Given the description of an element on the screen output the (x, y) to click on. 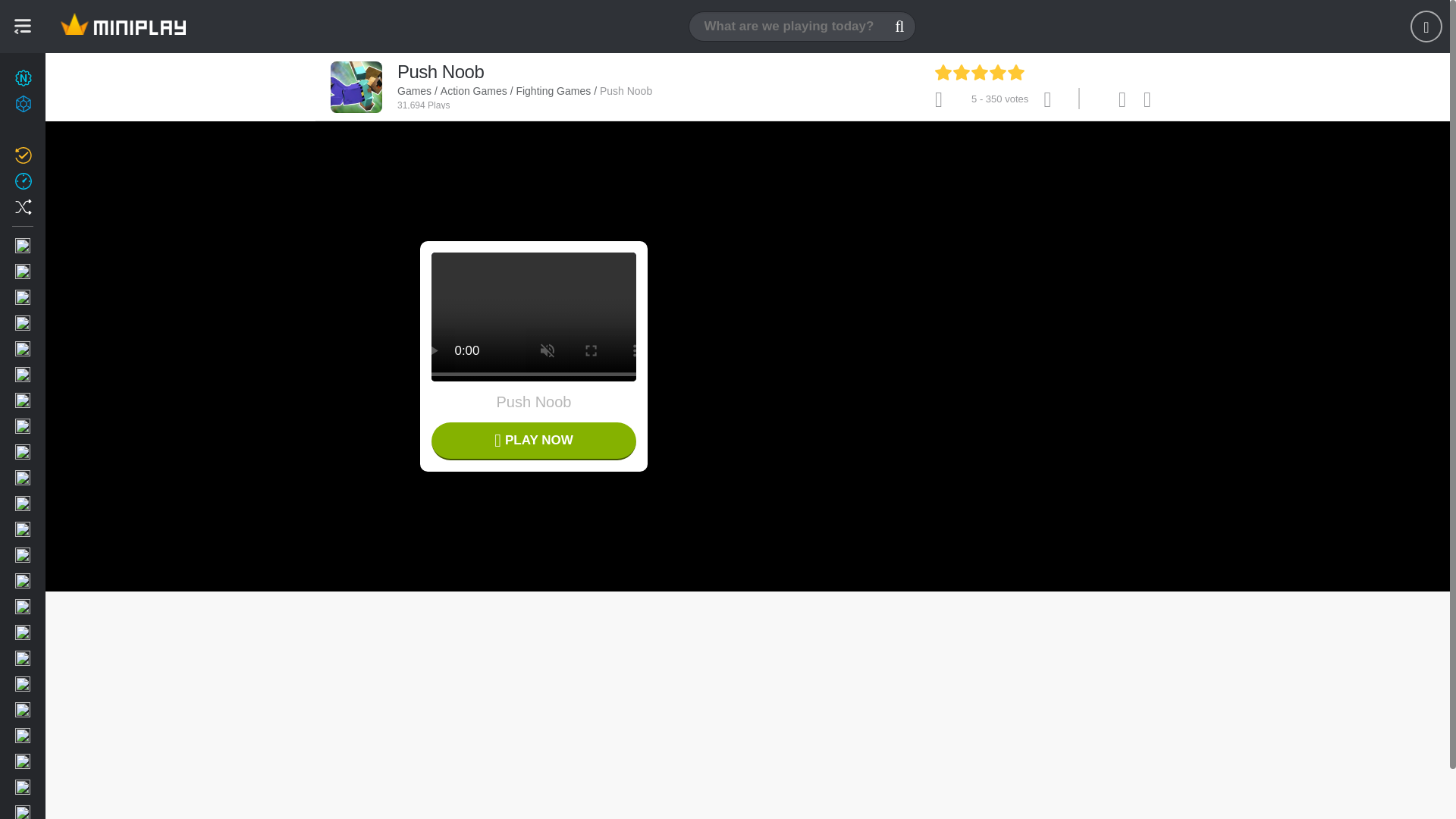
Adventure Games (75, 322)
Recent (75, 181)
Card Games (75, 503)
Mario Bros Games (75, 400)
Action Games (75, 297)
Games (122, 26)
Achievements (75, 103)
Kids Games (75, 425)
Updated (75, 155)
2 Players Games (75, 271)
